Given the description of an element on the screen output the (x, y) to click on. 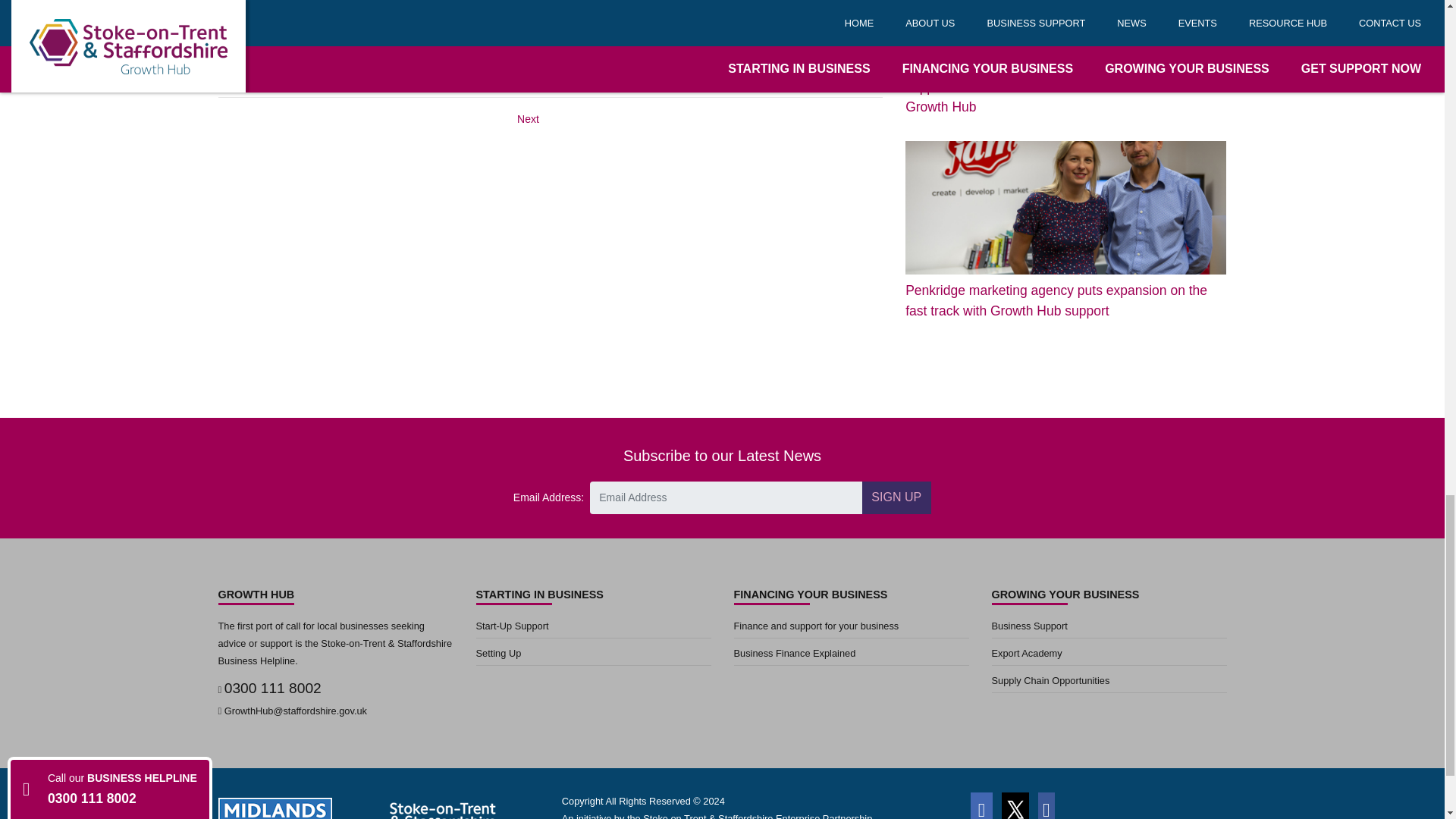
SIGN UP (896, 497)
Next (527, 119)
Start-Up Support (593, 627)
0300 111 8002 (272, 688)
Setting Up (593, 654)
Finance and support for your business (851, 627)
